Given the description of an element on the screen output the (x, y) to click on. 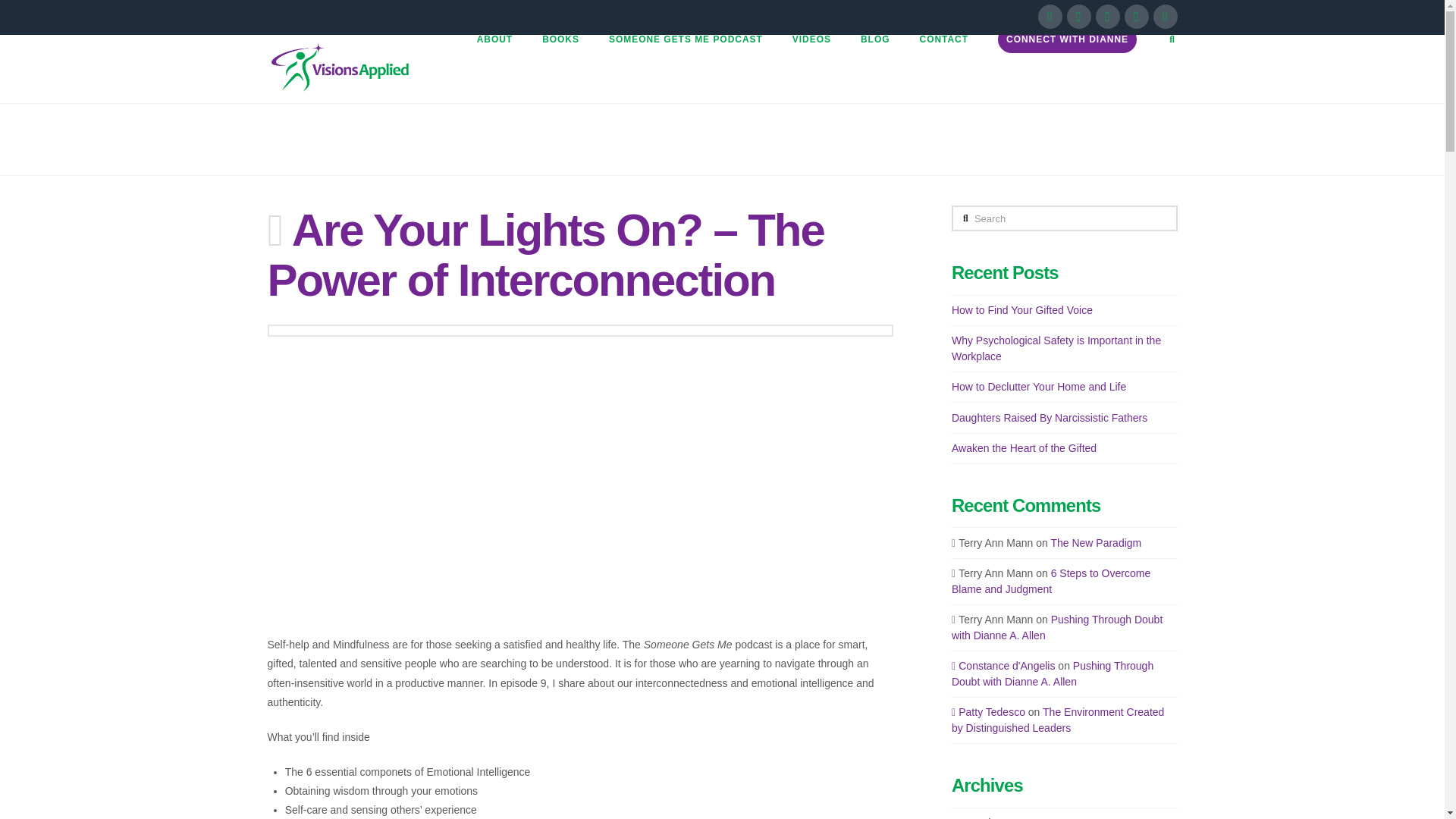
LinkedIn (1106, 16)
How to Find Your Gifted Voice (1022, 309)
Why Psychological Safety is Important in the Workplace  (1056, 348)
CONNECT WITH DIANNE (1066, 69)
Pushing Through Doubt with Dianne A. Allen (1056, 627)
BOOKS (560, 69)
Constance d'Angelis (1003, 665)
The New Paradigm (1095, 542)
Patty Tedesco (988, 711)
VIDEOS (811, 69)
YouTube (1136, 16)
6 Steps to Overcome Blame and Judgment (1051, 581)
BLOG (874, 69)
Pinterest (1164, 16)
